Given the description of an element on the screen output the (x, y) to click on. 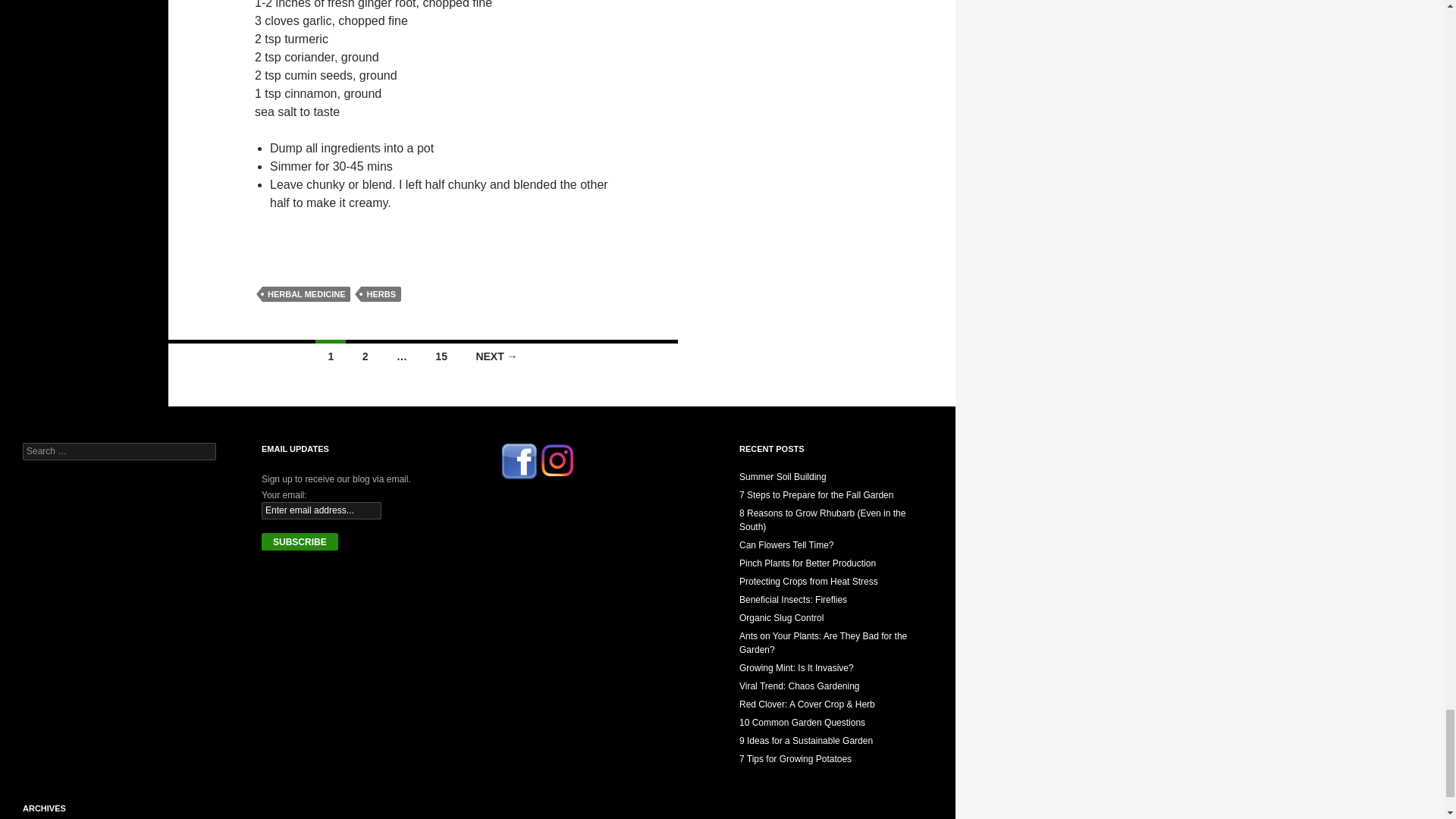
Subscribe (299, 541)
Enter email address... (321, 510)
